Given the description of an element on the screen output the (x, y) to click on. 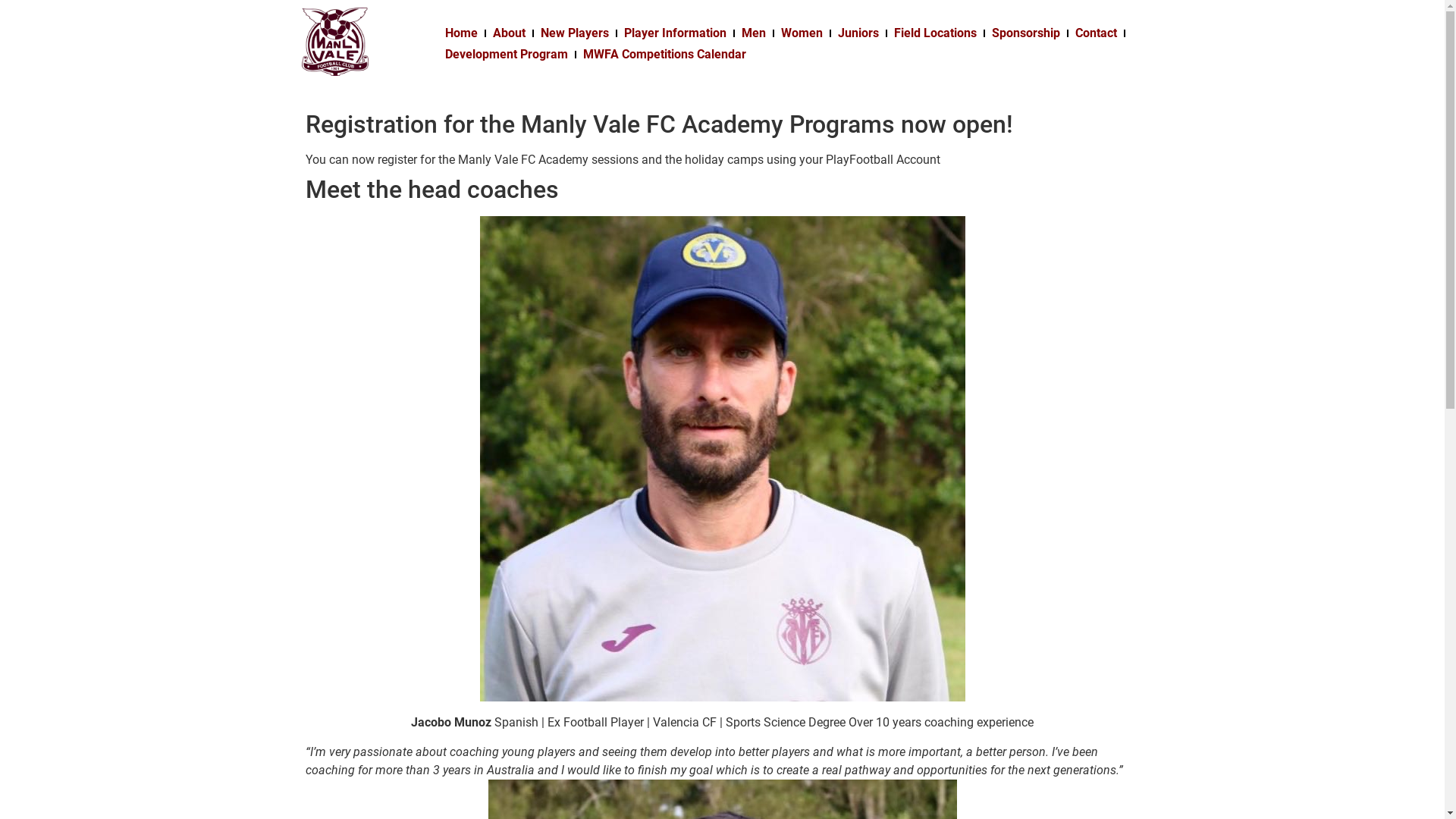
Women Element type: text (801, 32)
cropped-MVFC-Logo-1.png Element type: hover (334, 41)
About Element type: text (509, 32)
Men Element type: text (753, 32)
Juniors Element type: text (858, 32)
Home Element type: text (461, 32)
MWFA Competitions Calendar Element type: text (664, 54)
New Players Element type: text (574, 32)
Field Locations Element type: text (935, 32)
Contact Element type: text (1095, 32)
Sponsorship Element type: text (1025, 32)
Development Program Element type: text (506, 54)
Player Information Element type: text (675, 32)
